Given the description of an element on the screen output the (x, y) to click on. 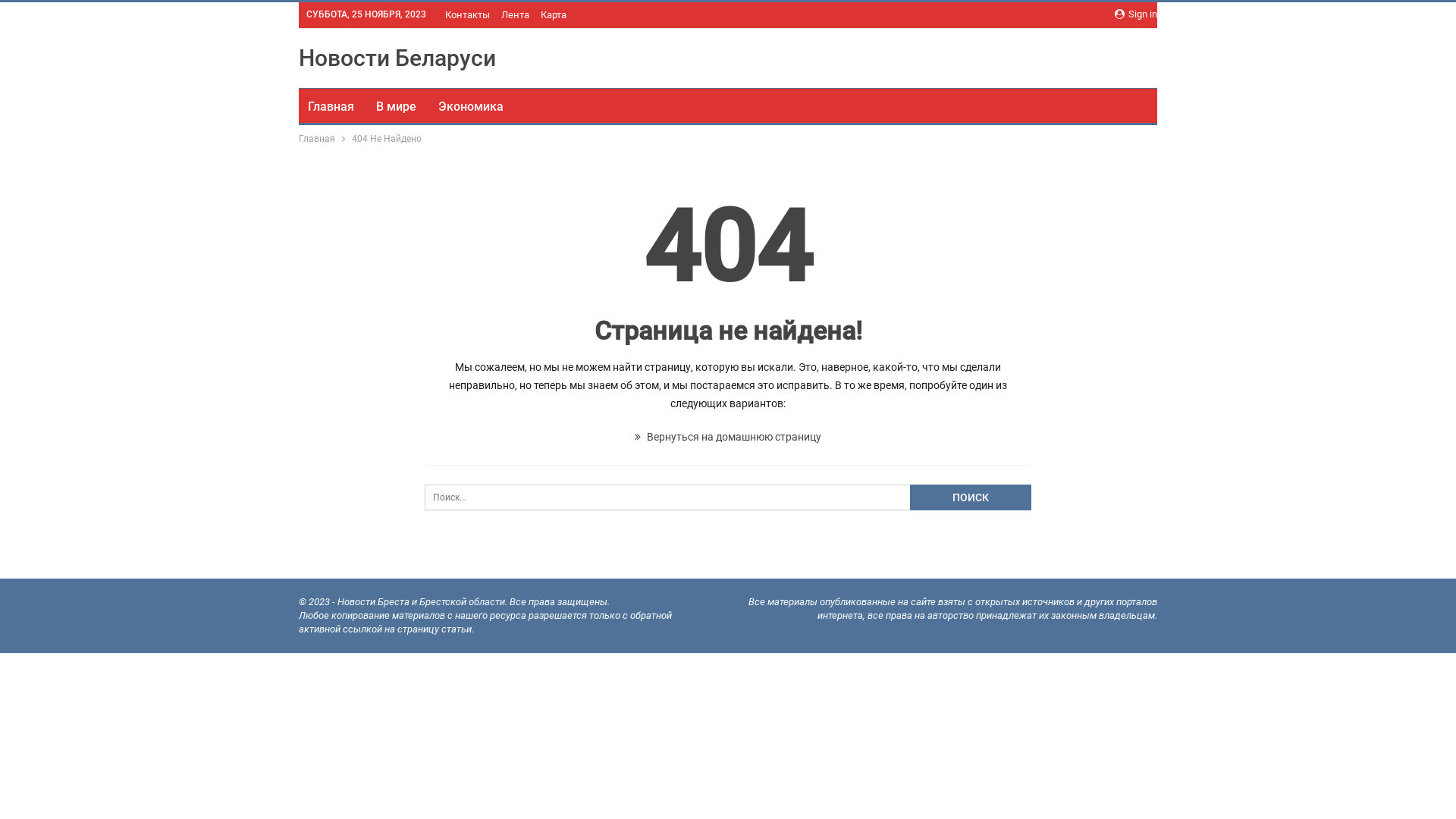
Sign in Element type: text (1135, 14)
